Given the description of an element on the screen output the (x, y) to click on. 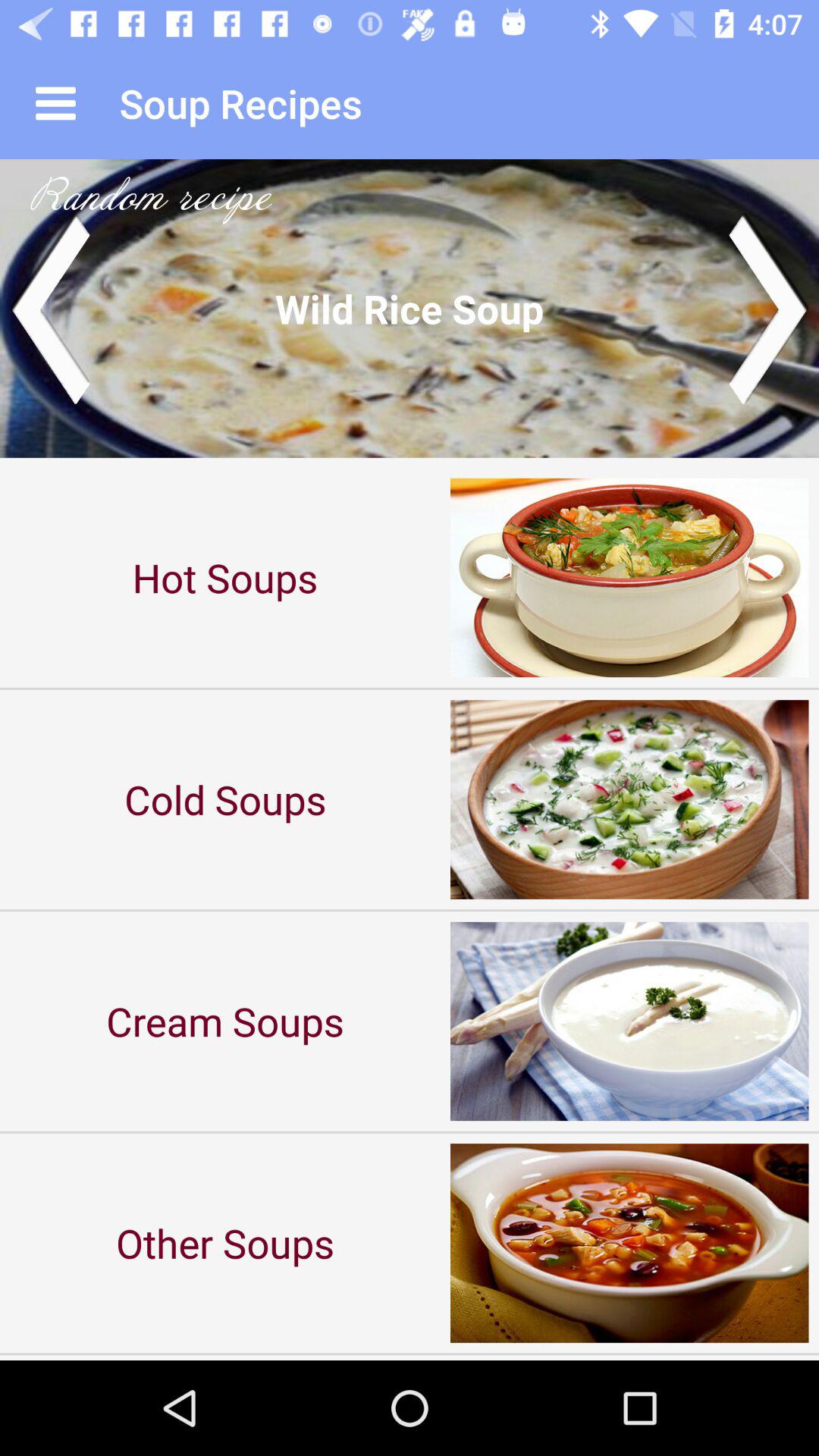
open the icon above the hot soups item (409, 308)
